Given the description of an element on the screen output the (x, y) to click on. 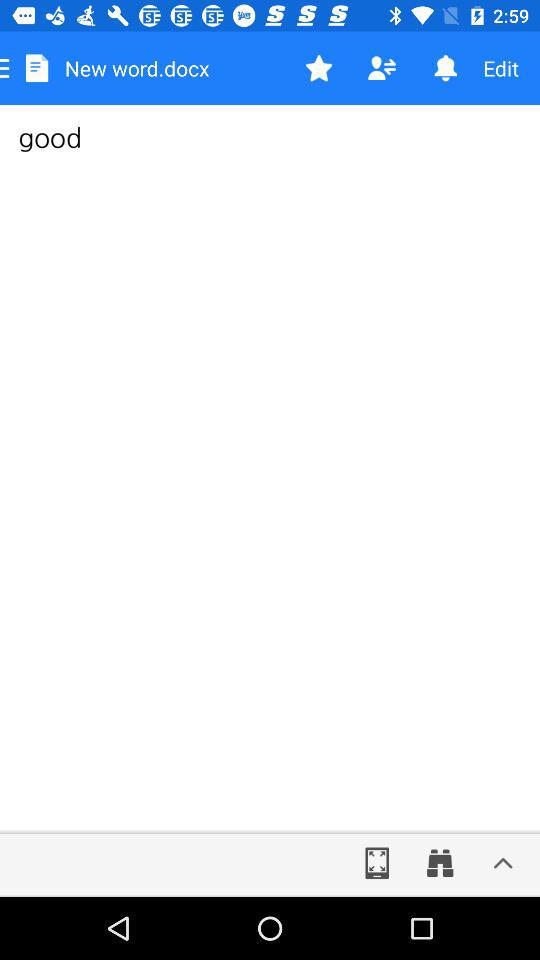
mark as favorite (318, 68)
